Given the description of an element on the screen output the (x, y) to click on. 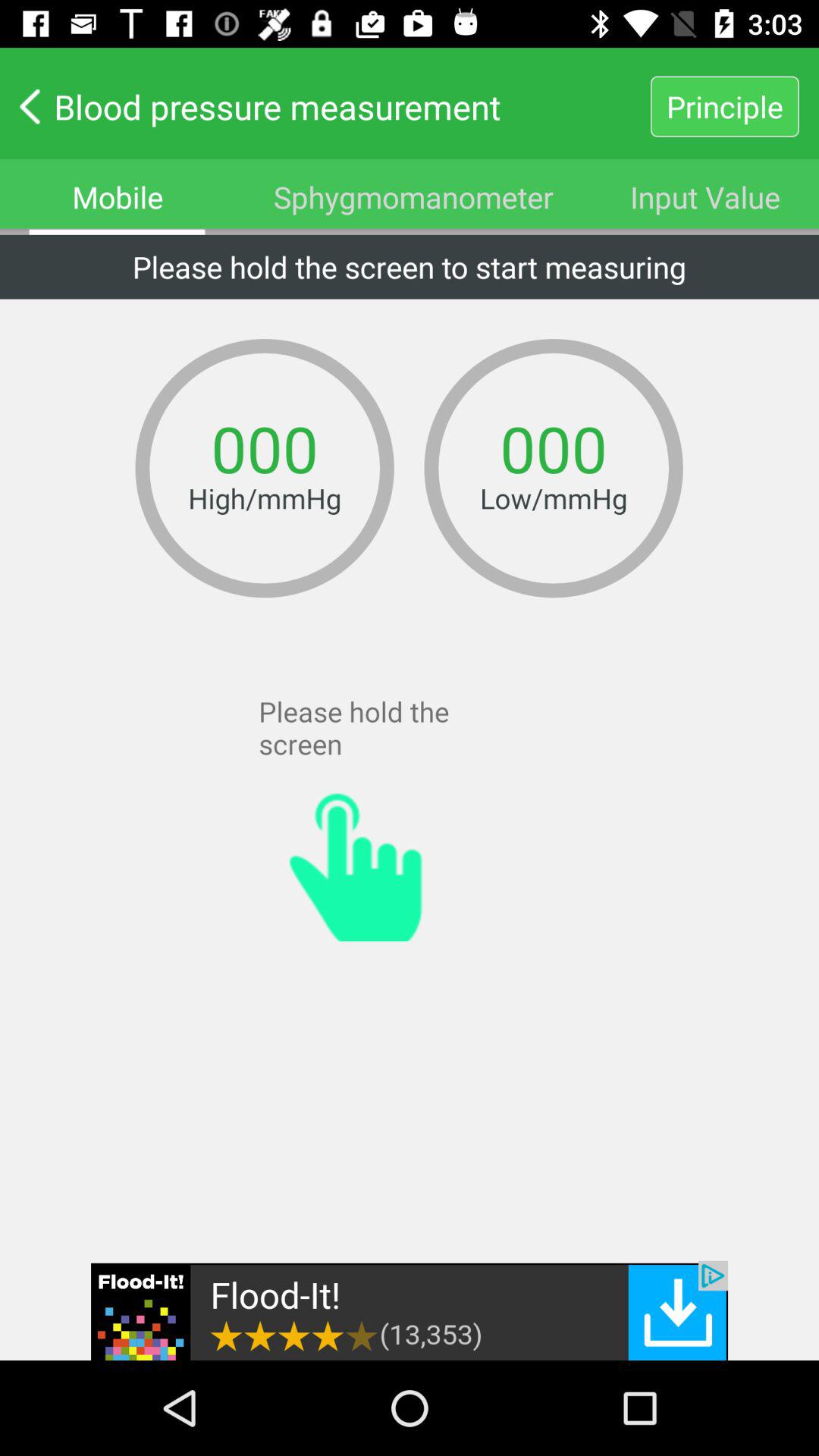
open advertisement (409, 1310)
